Given the description of an element on the screen output the (x, y) to click on. 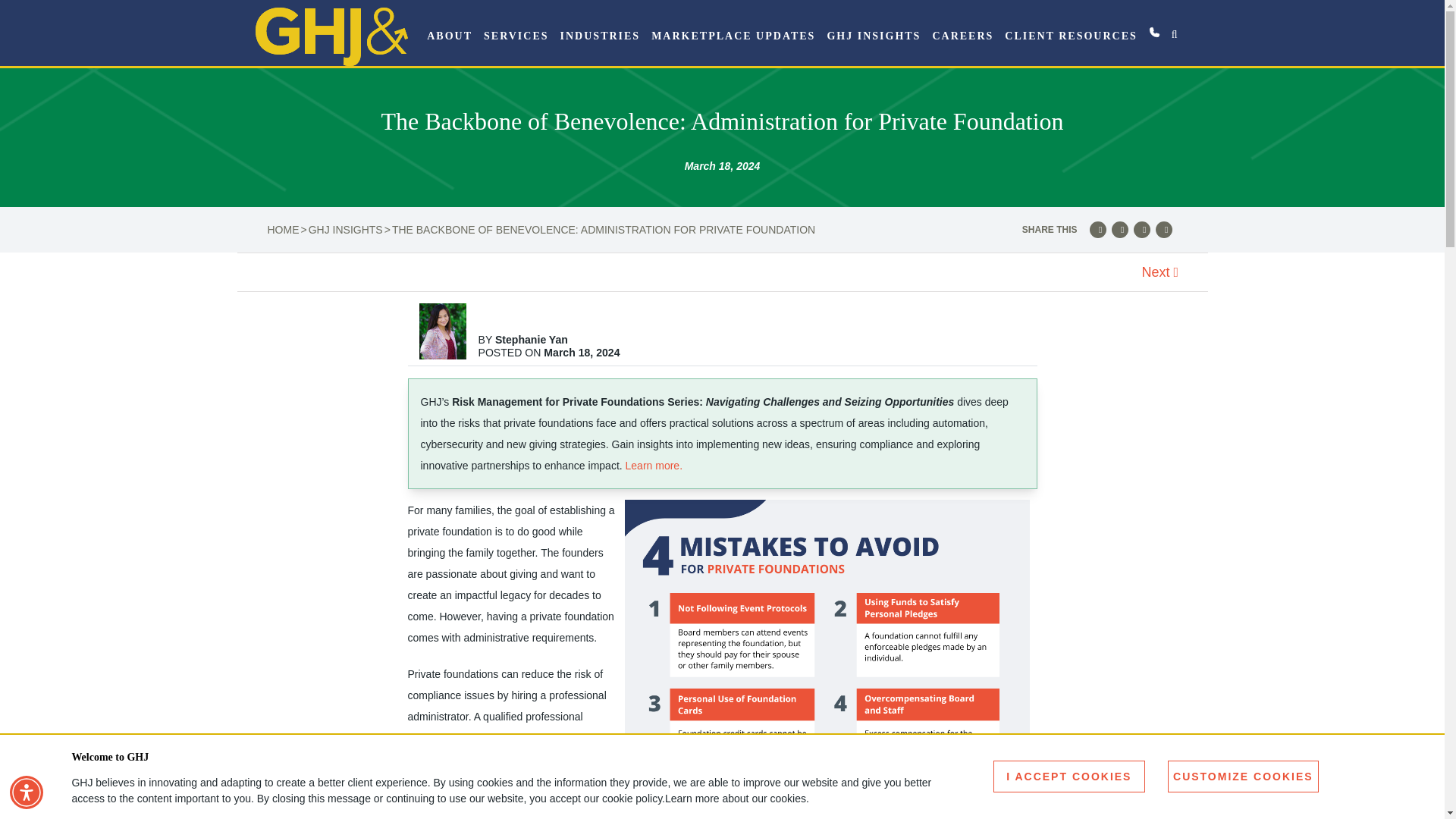
Accessibility Menu (26, 792)
SERVICES (515, 37)
